Given the description of an element on the screen output the (x, y) to click on. 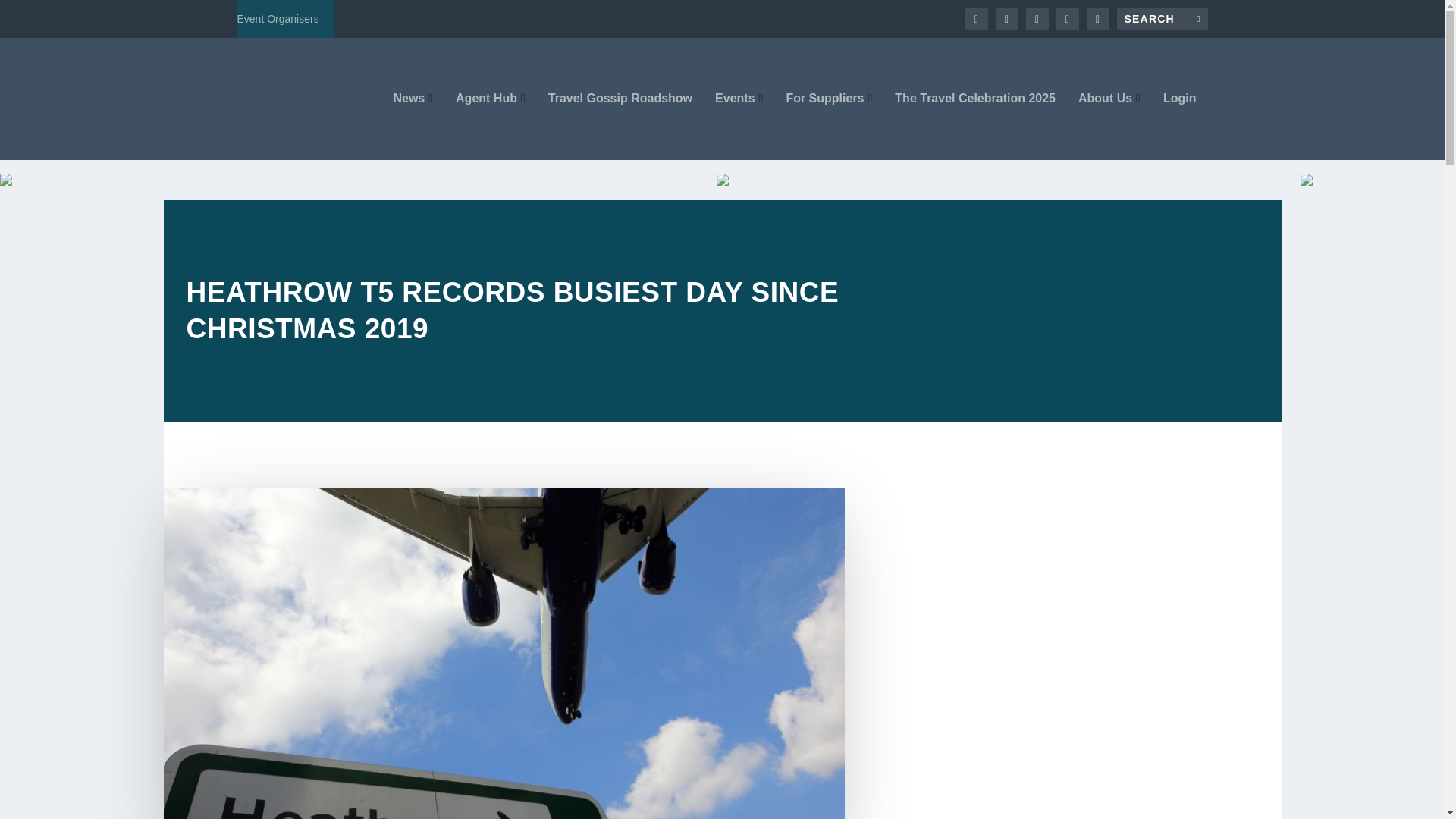
For Suppliers (829, 125)
Travel Gossip Roadshow (620, 125)
Search for: (1161, 18)
The Travel Celebration 2025 (975, 125)
Agent Hub (490, 125)
Event Organisers (276, 18)
